Given the description of an element on the screen output the (x, y) to click on. 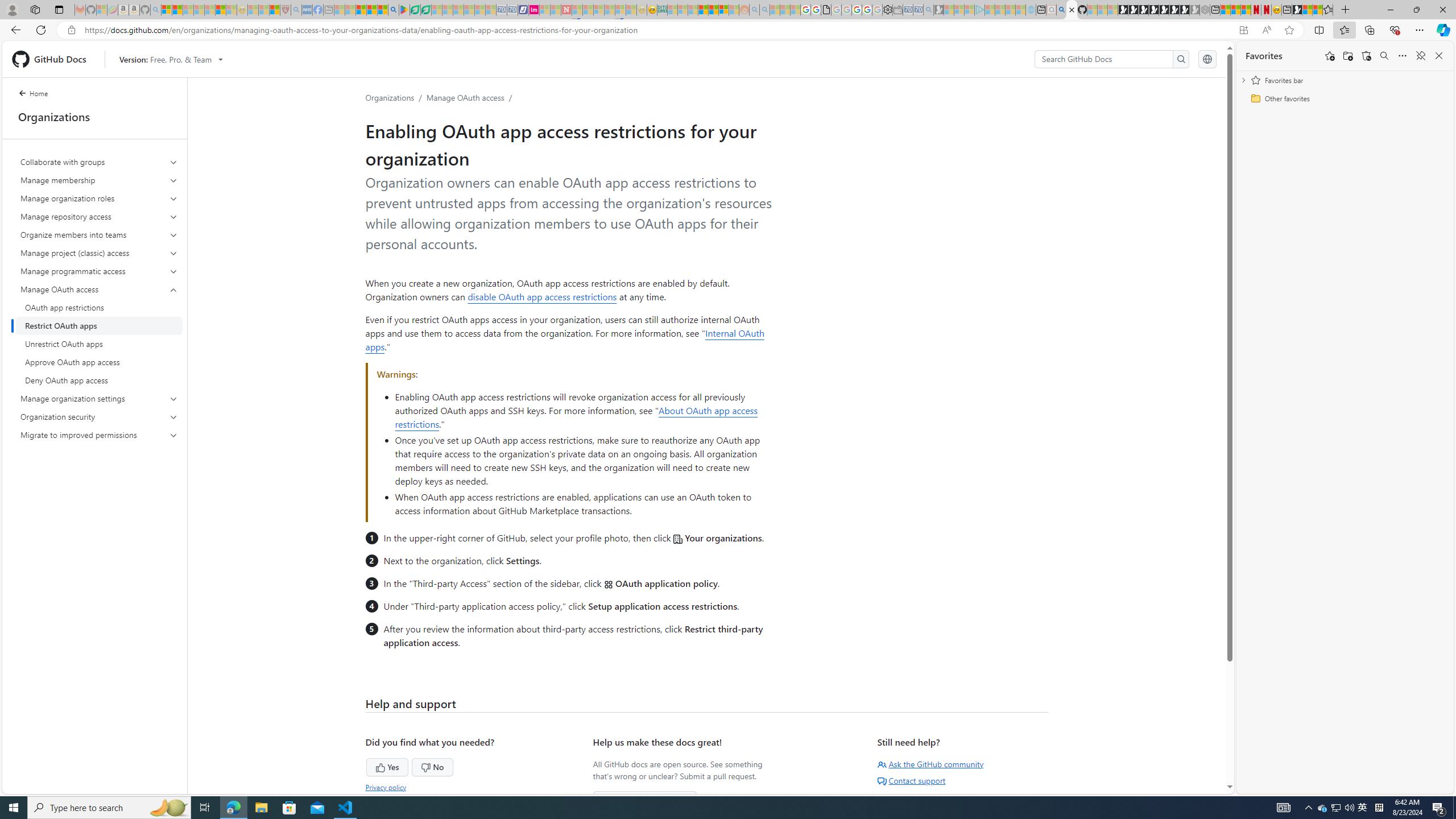
GitHub Docs (53, 58)
Manage OAuth access (99, 289)
Local - MSN (274, 9)
No (410, 765)
Manage membership (99, 180)
The Weather Channel - MSN - Sleeping (187, 9)
Scroll to top (1200, 768)
Restrict OAuth apps (99, 325)
